Given the description of an element on the screen output the (x, y) to click on. 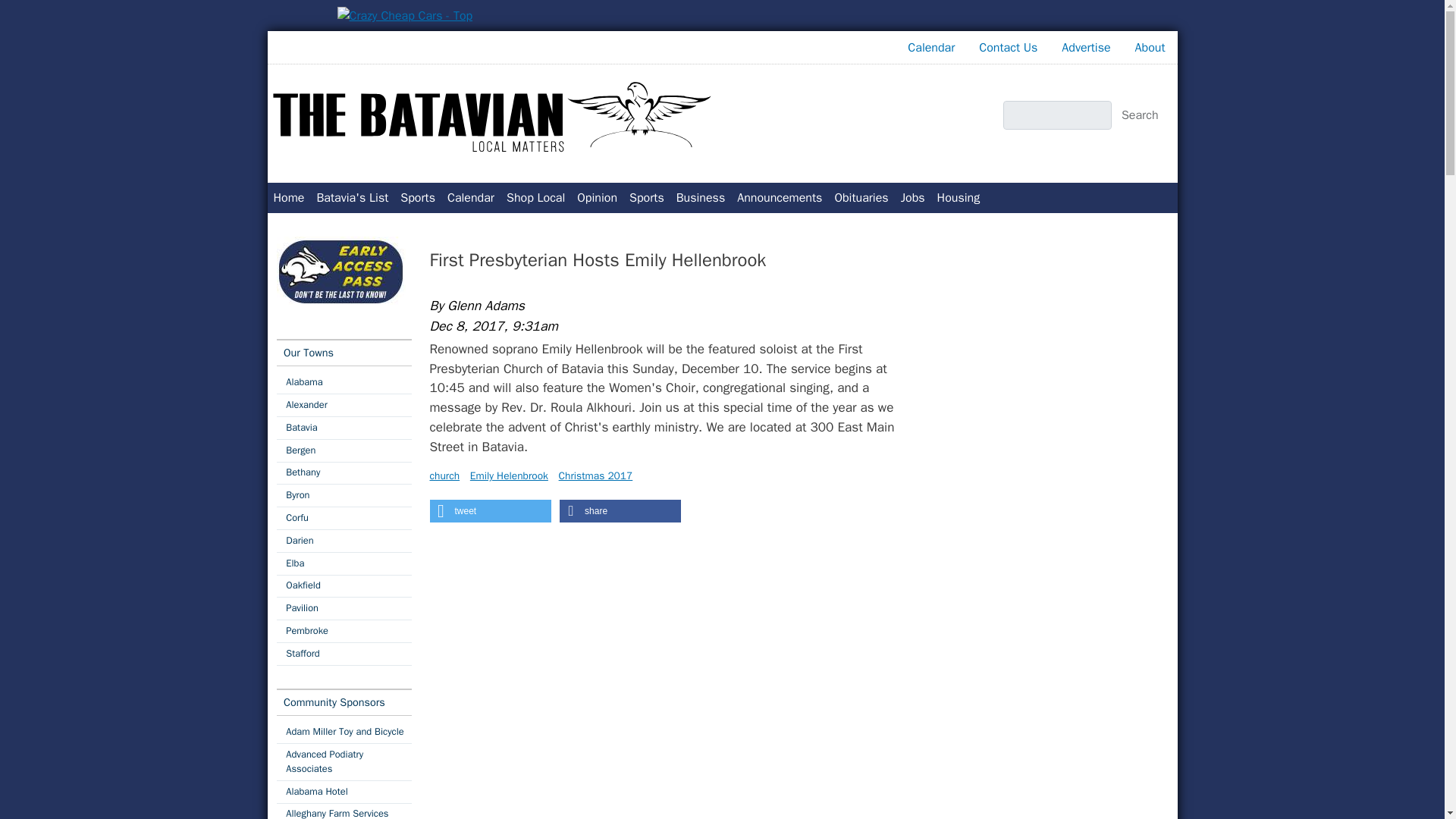
Corfu (343, 517)
Pembroke (343, 630)
Pavilion (343, 608)
Sports (646, 197)
Oakfield (343, 586)
Sports (646, 197)
Home (288, 197)
Contact Us (1007, 47)
Business (700, 197)
Housing (959, 197)
